Given the description of an element on the screen output the (x, y) to click on. 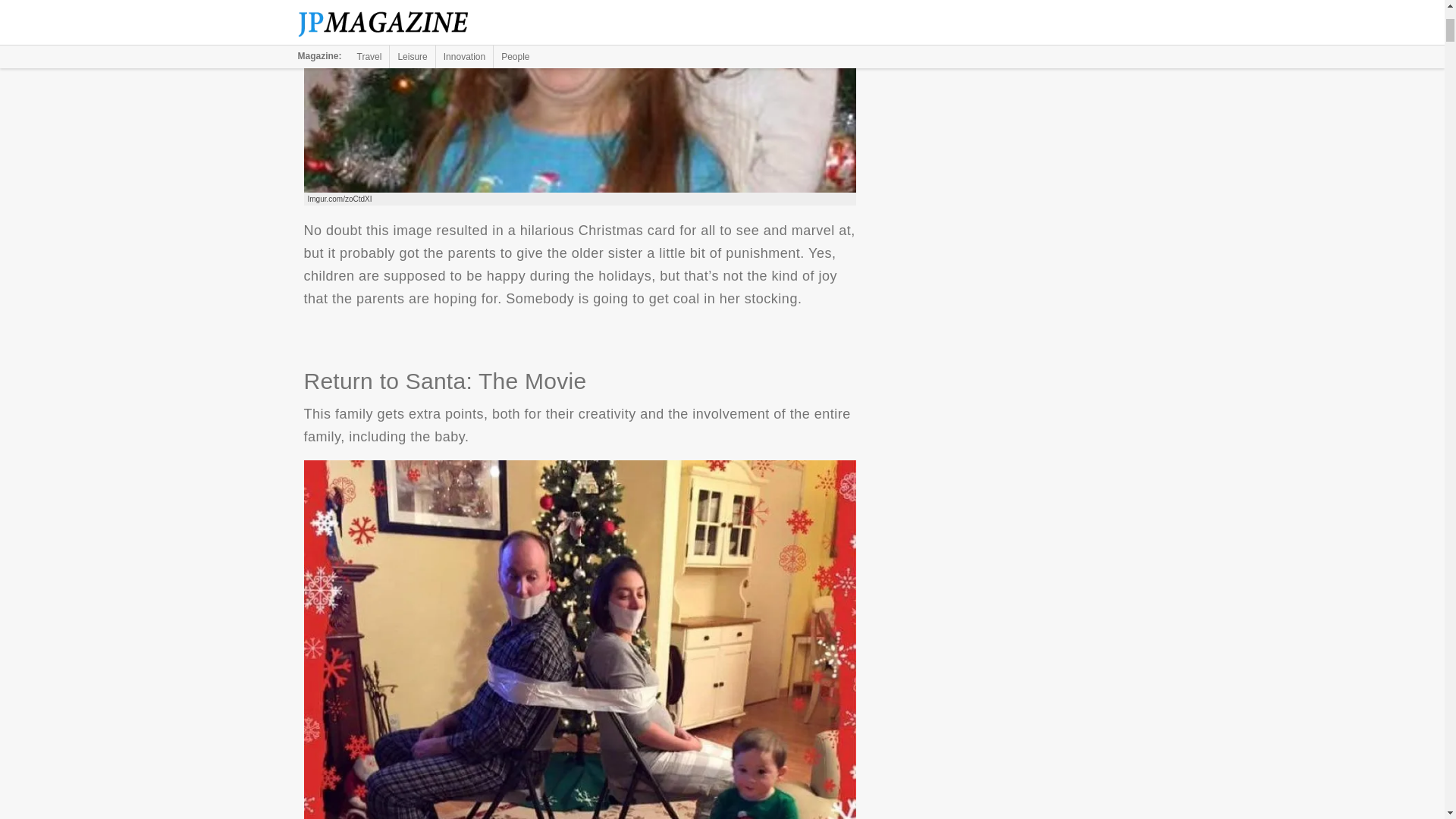
Choosing the Time to Strike (579, 96)
